Given the description of an element on the screen output the (x, y) to click on. 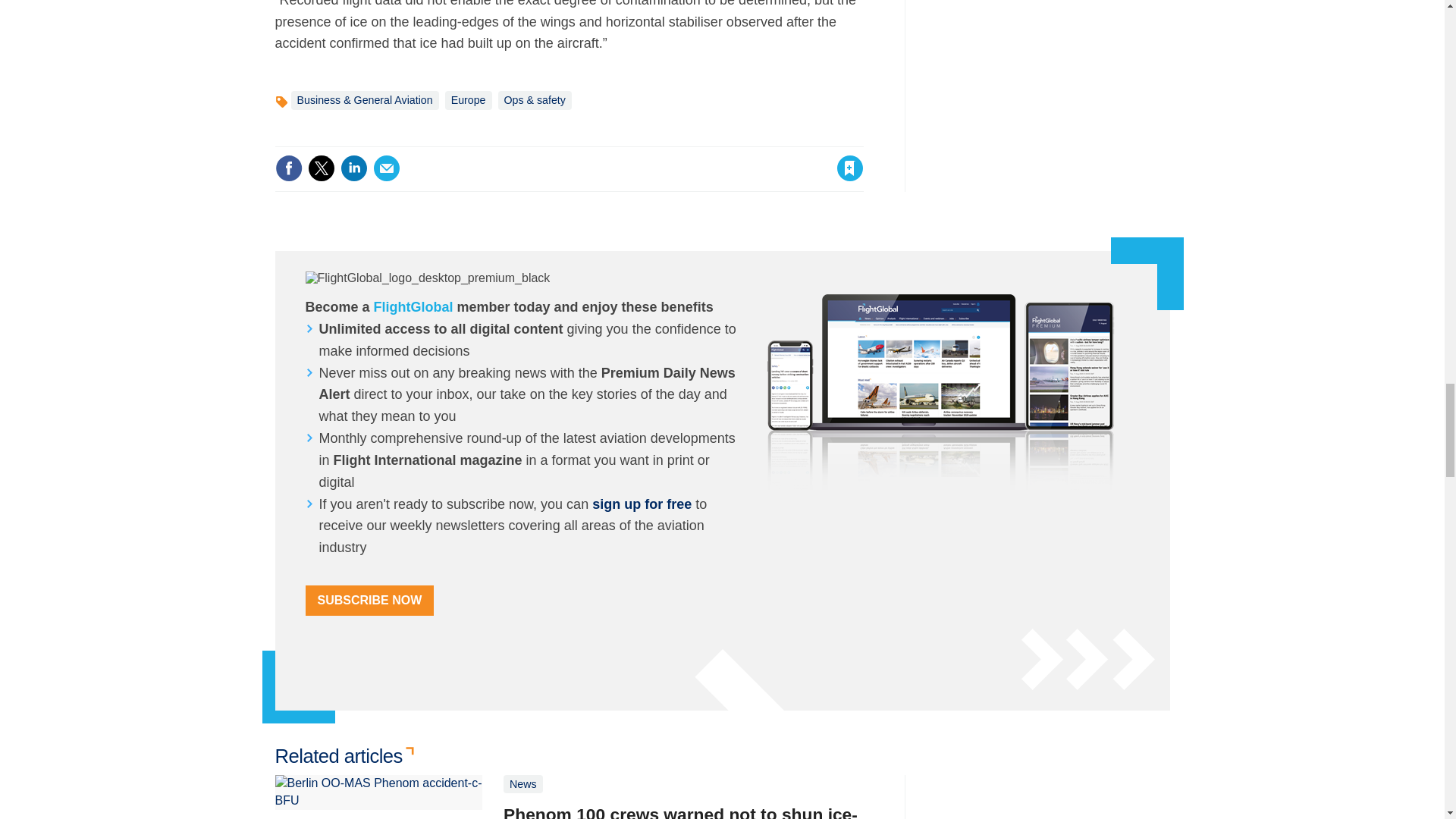
Email this article (386, 167)
Share this on Twitter (320, 167)
Share this on Facebook (288, 167)
Share this on Linked in (352, 167)
